Given the description of an element on the screen output the (x, y) to click on. 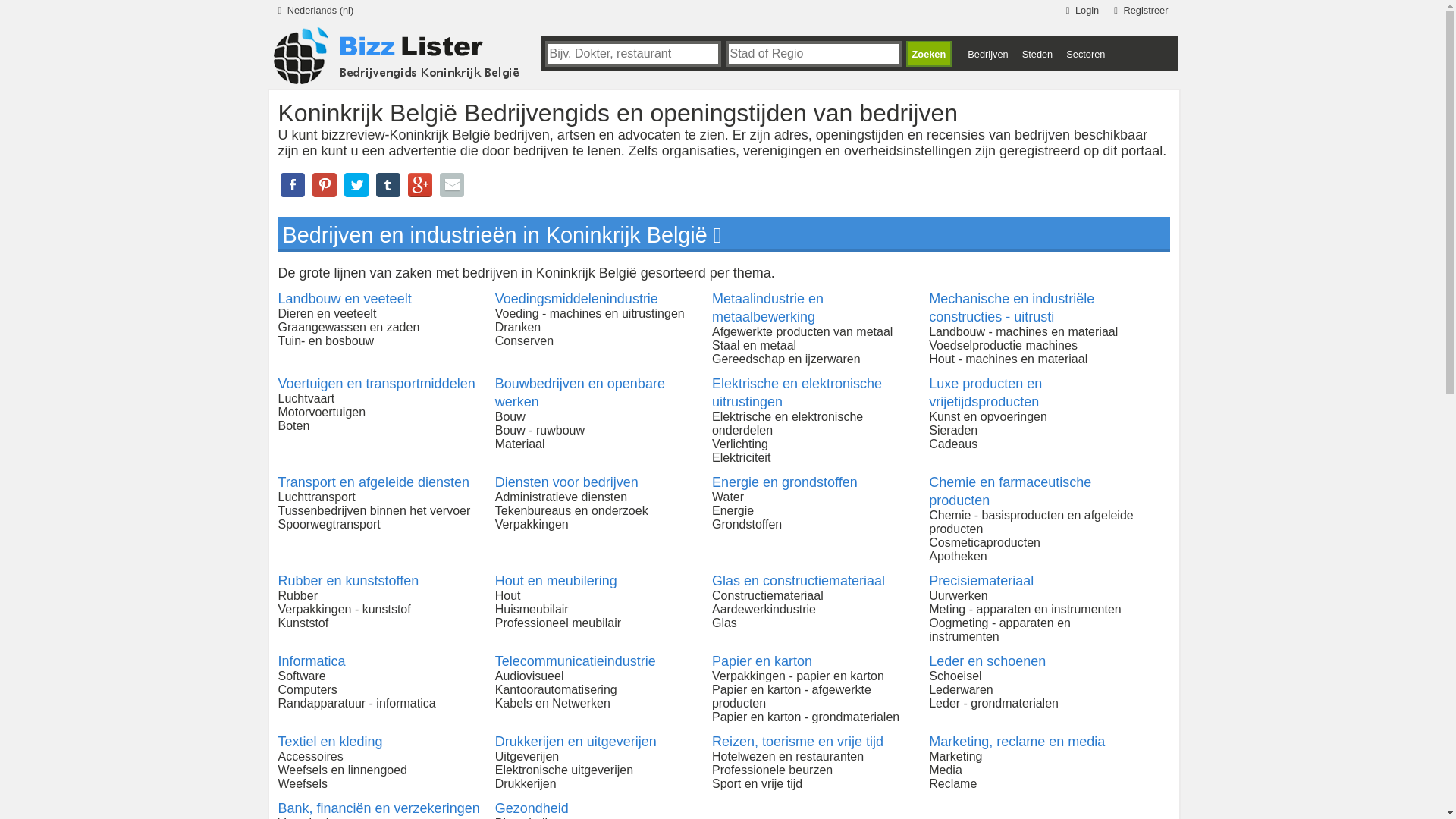
Zoeken Element type: text (928, 53)
Steden Element type: text (1037, 53)
Luxe producten en vrijetijdsproducten Element type: text (984, 392)
Reizen, toerisme en vrije tijd Element type: text (797, 741)
Diensten voor bedrijven Element type: text (566, 481)
Hout en meubilering Element type: text (556, 580)
Energie en grondstoffen Element type: text (784, 481)
Leder en schoenen Element type: text (986, 660)
Textiel en kleding Element type: text (329, 741)
Login Element type: text (1079, 7)
Rubber en kunststoffen Element type: text (347, 580)
Sectoren Element type: text (1085, 53)
Informatica Element type: text (311, 660)
Marketing, reclame en media Element type: text (1016, 741)
Gezondheid Element type: text (531, 807)
Landbouw en veeteelt Element type: text (344, 298)
Transport en afgeleide diensten Element type: text (373, 481)
Metaalindustrie en metaalbewerking Element type: text (767, 307)
Papier en karton Element type: text (762, 660)
Bouwbedrijven en openbare werken Element type: text (580, 392)
Glas en constructiemateriaal Element type: text (798, 580)
Telecommunicatieindustrie Element type: text (575, 660)
Registreer Element type: text (1137, 7)
Chemie en farmaceutische producten Element type: text (1009, 491)
Voedingsmiddelenindustrie Element type: text (576, 298)
Voertuigen en transportmiddelen Element type: text (375, 383)
Drukkerijen en uitgeverijen Element type: text (575, 741)
Precisiemateriaal Element type: text (980, 580)
Nederlands (nl) Element type: text (312, 7)
Elektrische en elektronische uitrustingen Element type: text (796, 392)
Bedrijven Element type: text (987, 53)
